Given the description of an element on the screen output the (x, y) to click on. 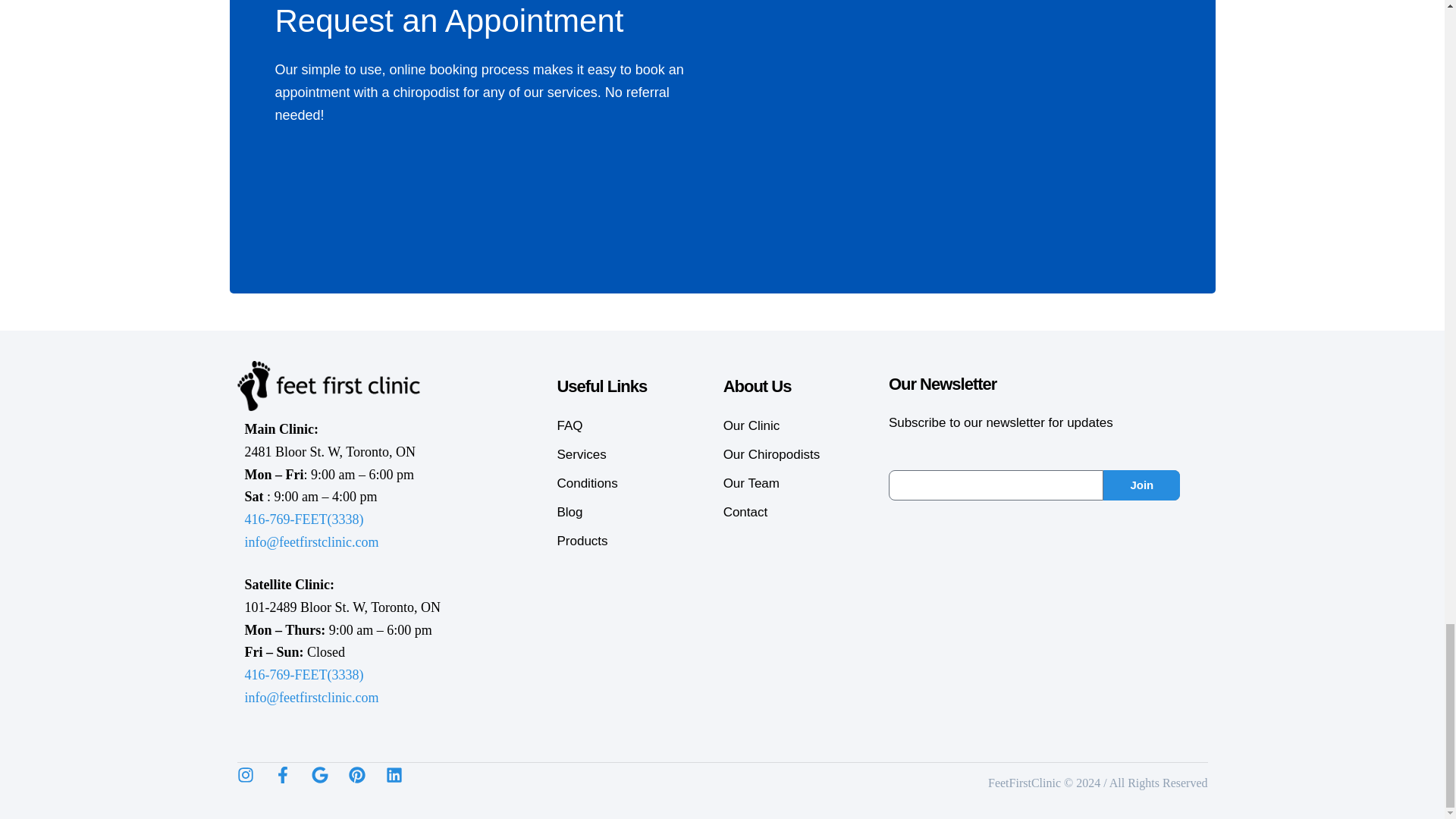
Feet First Clinic (327, 386)
